Given the description of an element on the screen output the (x, y) to click on. 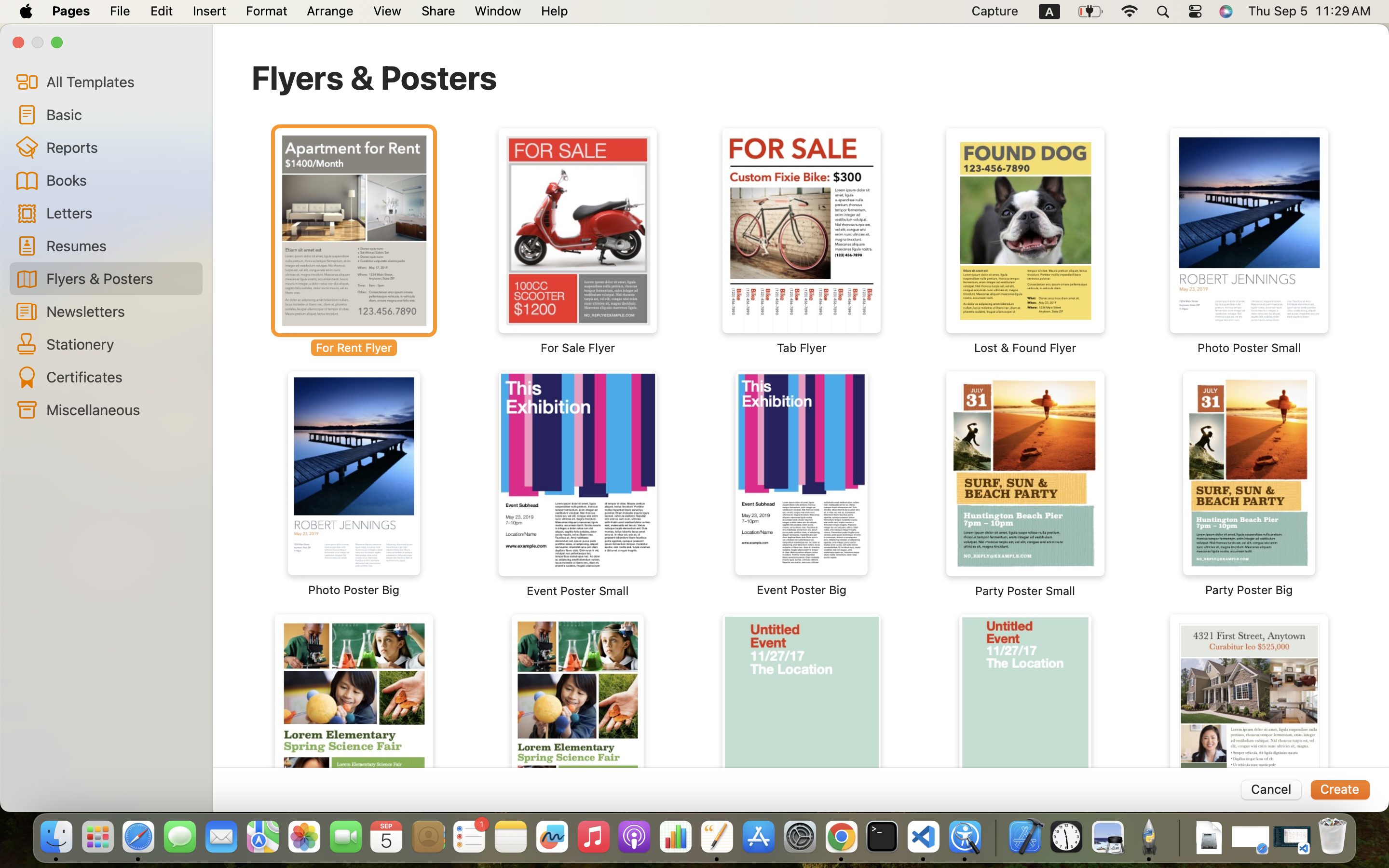
Basic Element type: AXStaticText (120, 114)
‎⁨For Rent Flyer⁩ Element type: AXButton (353, 241)
‎⁨Party Poster Big⁩ Element type: AXButton (1249, 483)
Letters Element type: AXStaticText (120, 212)
Books Element type: AXStaticText (120, 179)
